Given the description of an element on the screen output the (x, y) to click on. 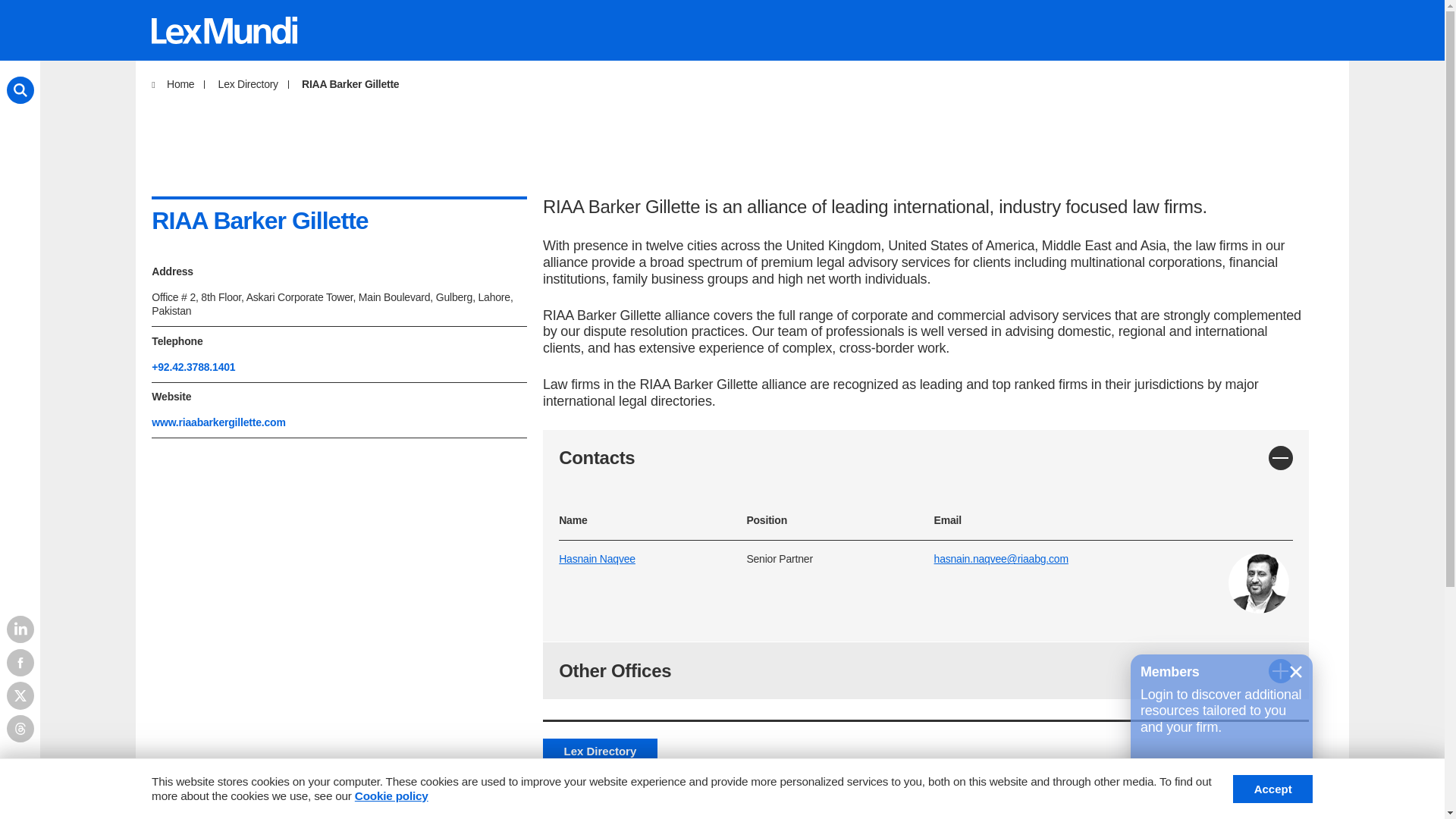
Resources (678, 788)
Cookie policy (391, 795)
Accept (1273, 788)
Member Login (1253, 788)
Events (772, 788)
Global Reach (560, 788)
Contact (855, 788)
Lex Mundi (184, 788)
Lex Directory (434, 788)
Member Firms (304, 788)
About (488, 808)
